Given the description of an element on the screen output the (x, y) to click on. 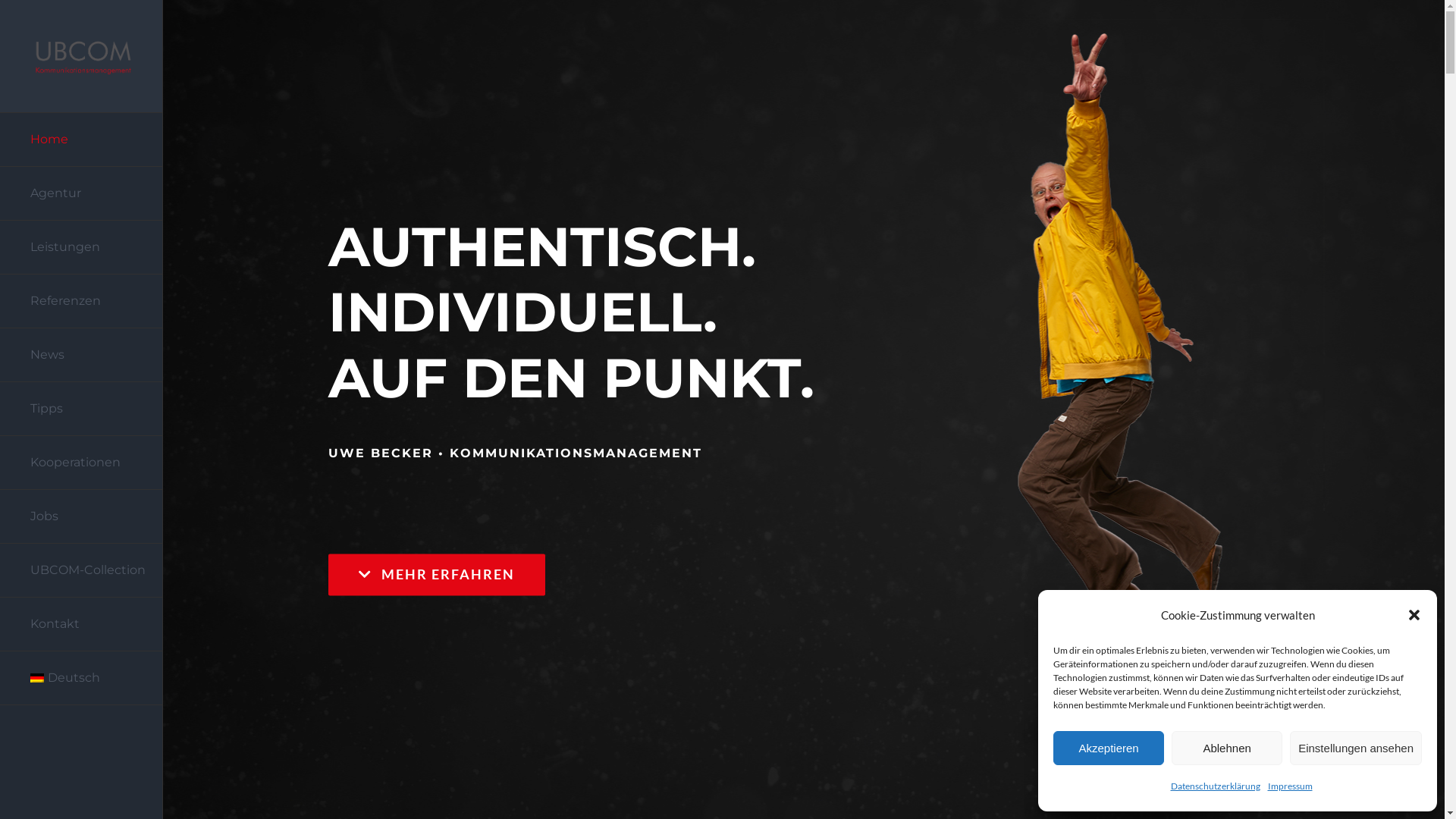
Agentur Element type: text (81, 193)
Einstellungen ansehen Element type: text (1355, 748)
Deutsch Element type: text (81, 678)
UBCOM-Collection Element type: text (81, 570)
Tipps Element type: text (81, 409)
Jobs Element type: text (81, 516)
Impressum Element type: text (1289, 786)
Leistungen Element type: text (81, 247)
MEHR ERFAHREN Element type: text (437, 575)
Ablehnen Element type: text (1226, 748)
Akzeptieren Element type: text (1108, 748)
Kooperationen Element type: text (81, 462)
Referenzen Element type: text (81, 301)
News Element type: text (81, 355)
Home Element type: text (81, 139)
Kontakt Element type: text (81, 624)
